Given the description of an element on the screen output the (x, y) to click on. 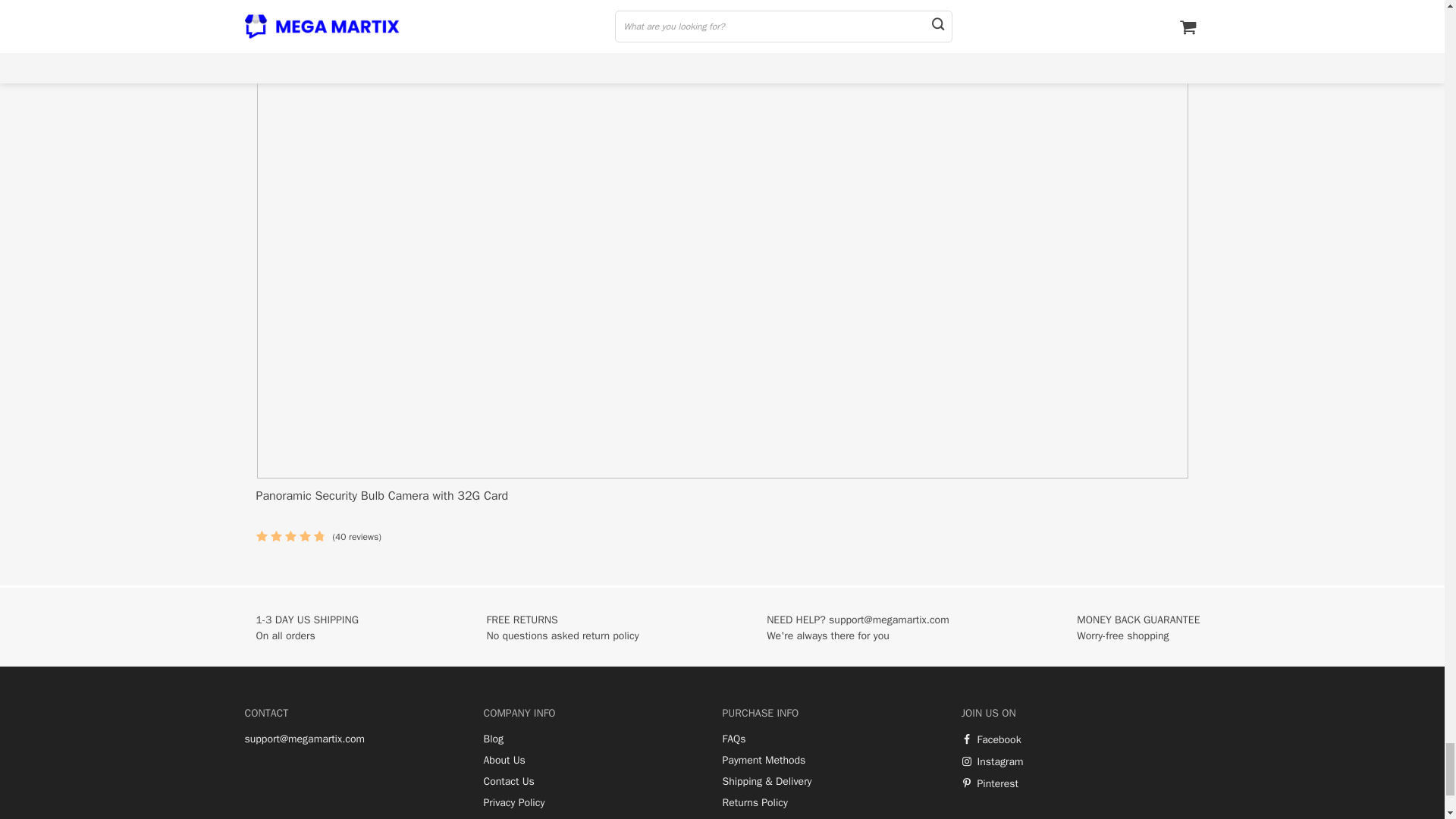
Returns Policy (754, 802)
Contact Us (508, 781)
Facebook (991, 739)
Blog (493, 739)
FAQs (733, 739)
About Us (504, 760)
Privacy Policy (513, 802)
Tracking (741, 818)
Payment Methods (763, 760)
Instagram (991, 762)
